Given the description of an element on the screen output the (x, y) to click on. 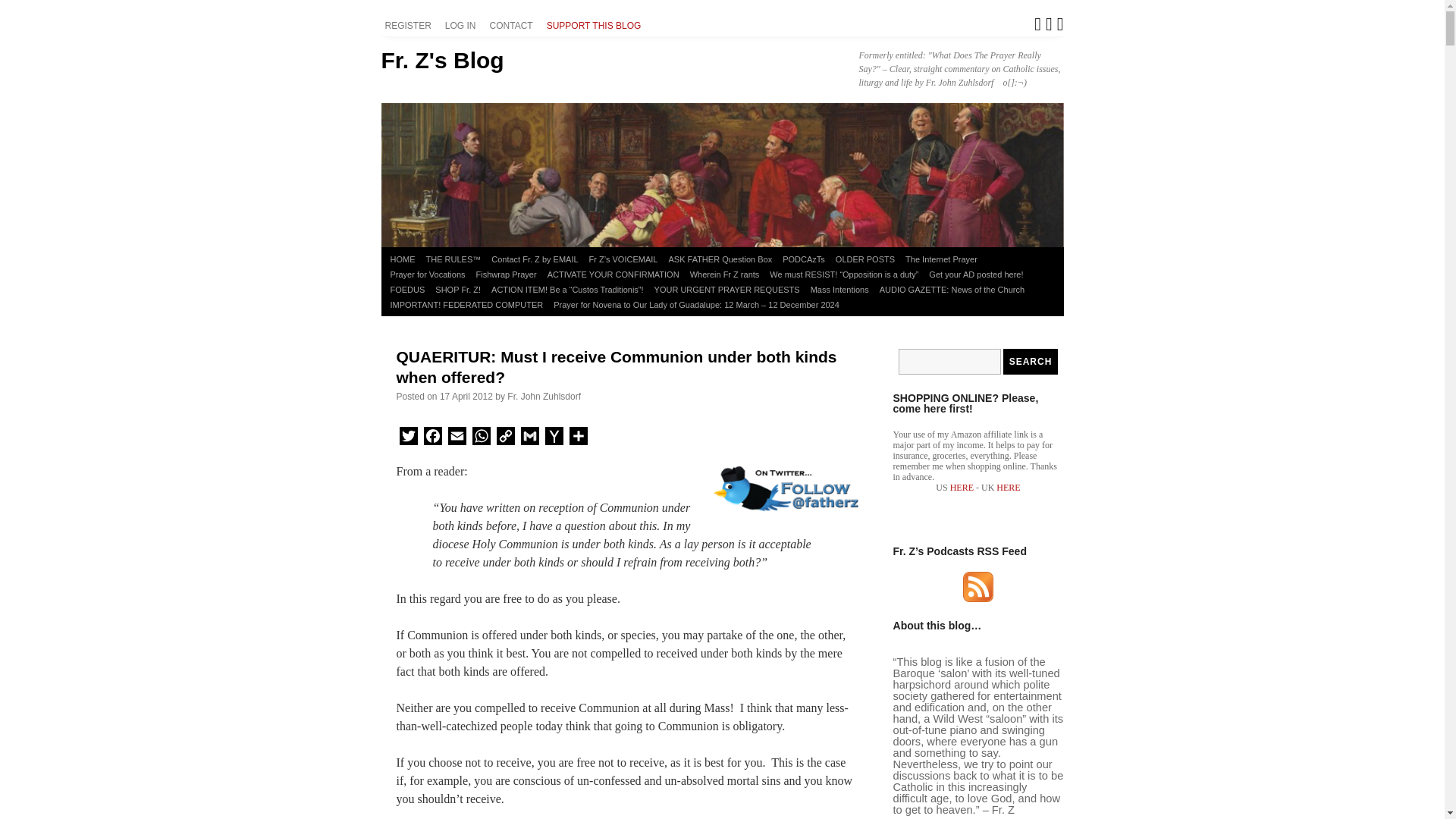
Gmail (528, 438)
Mass Intentions (840, 289)
Twitter (408, 438)
LOG IN (462, 25)
17 April 2012 (466, 396)
AUDIO GAZETTE: News of the Church (952, 289)
Contact Fr. Z by EMAIL (534, 258)
SHOP Fr. Z! (457, 289)
Get your AD posted here! (975, 273)
Search (1030, 361)
